Given the description of an element on the screen output the (x, y) to click on. 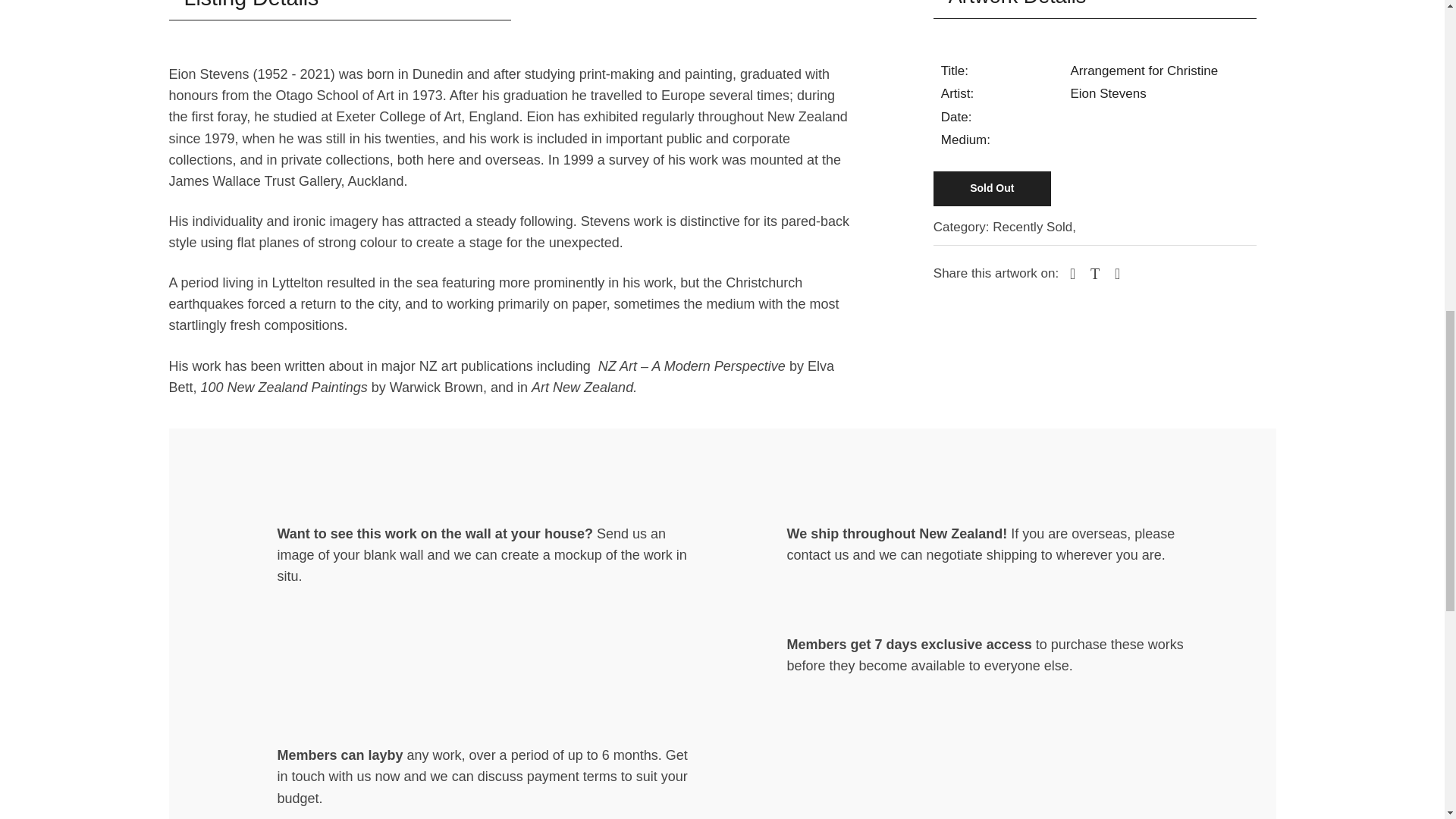
Share on Facebook (1070, 272)
Tweet on Twitter (1093, 272)
Pin on Pinterest (1115, 272)
